Given the description of an element on the screen output the (x, y) to click on. 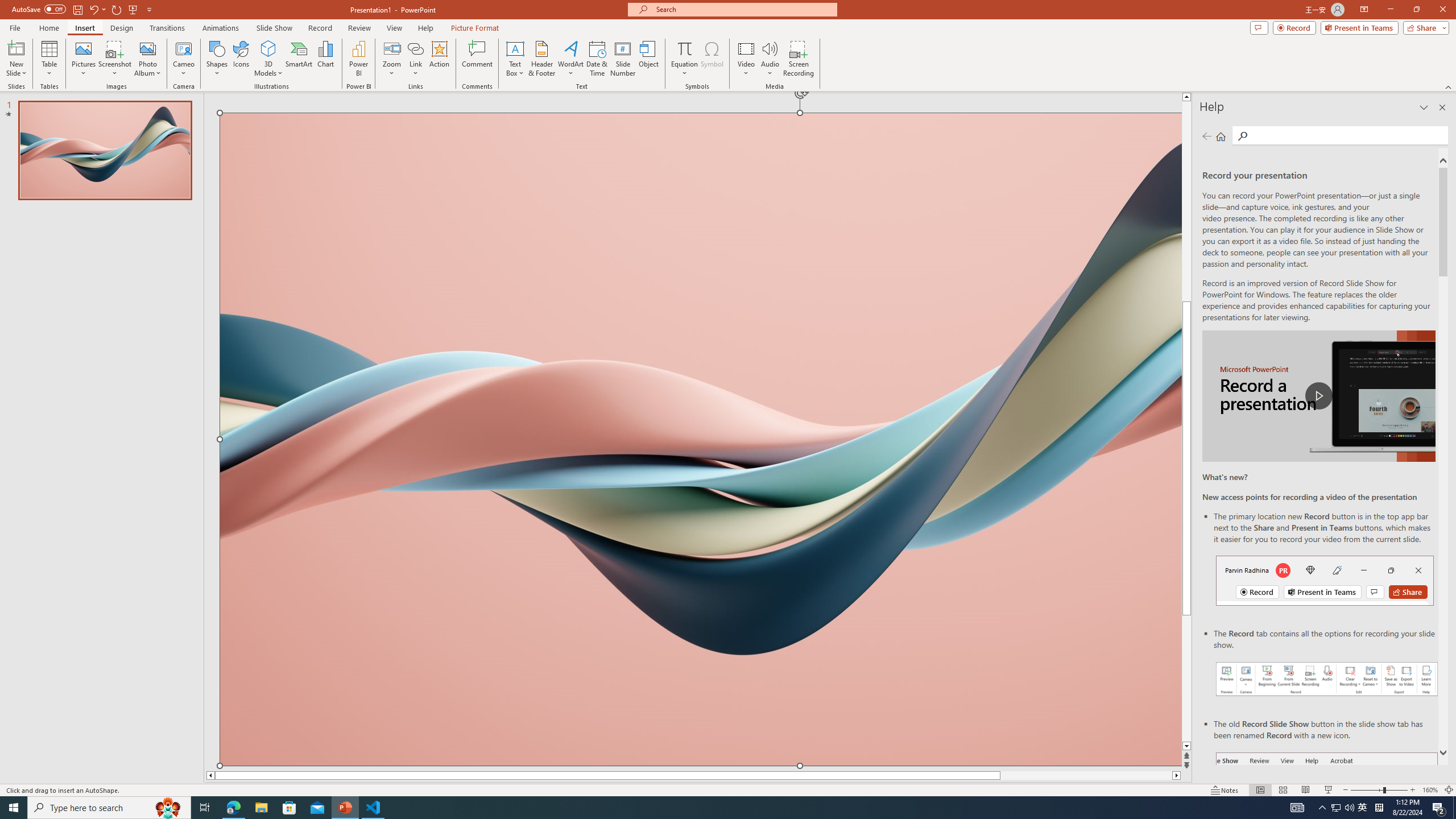
Link (415, 58)
WordArt (570, 58)
Date & Time... (596, 58)
Screen Recording... (798, 58)
